Given the description of an element on the screen output the (x, y) to click on. 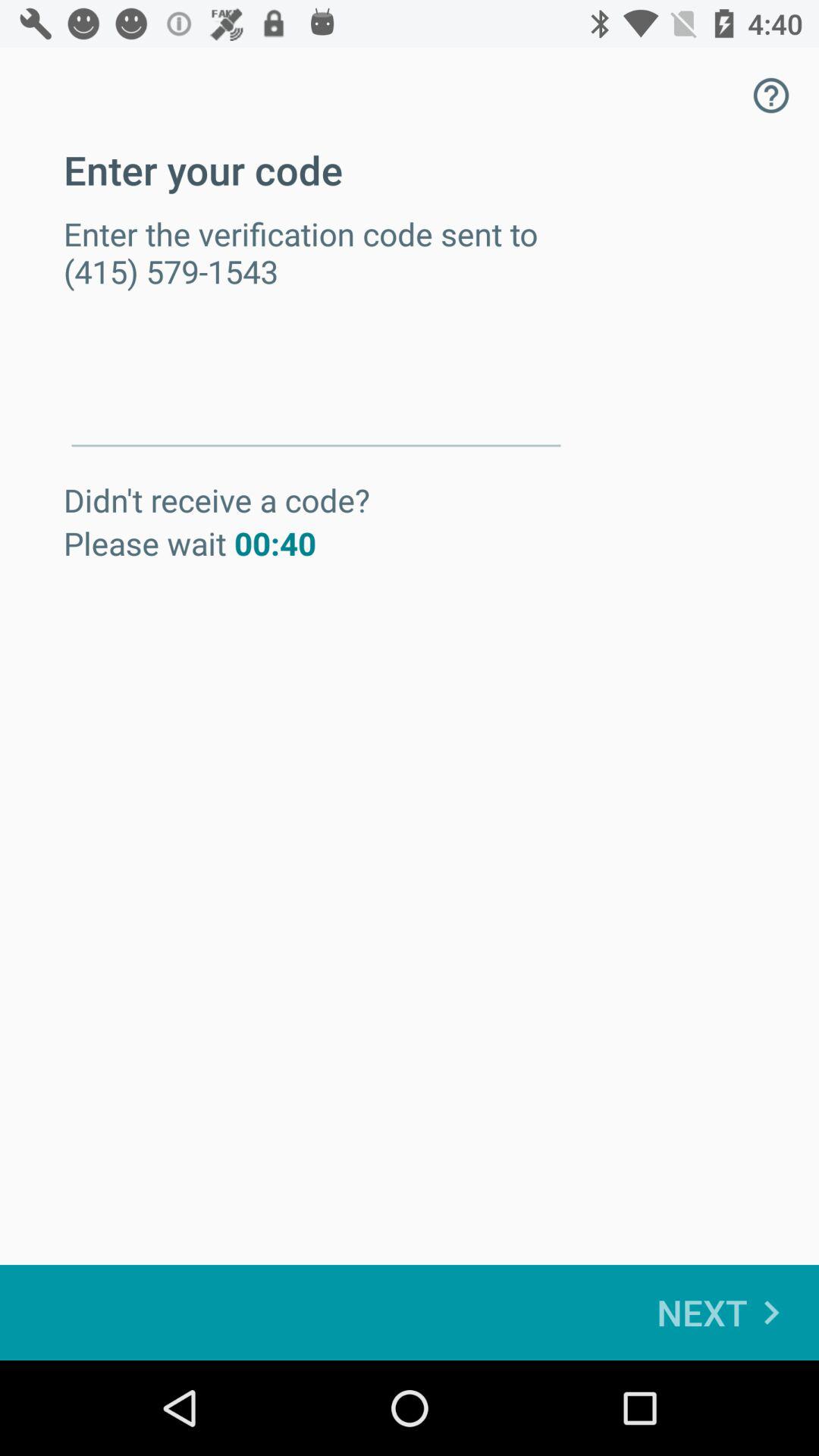
launch item below enter the verification (315, 393)
